Given the description of an element on the screen output the (x, y) to click on. 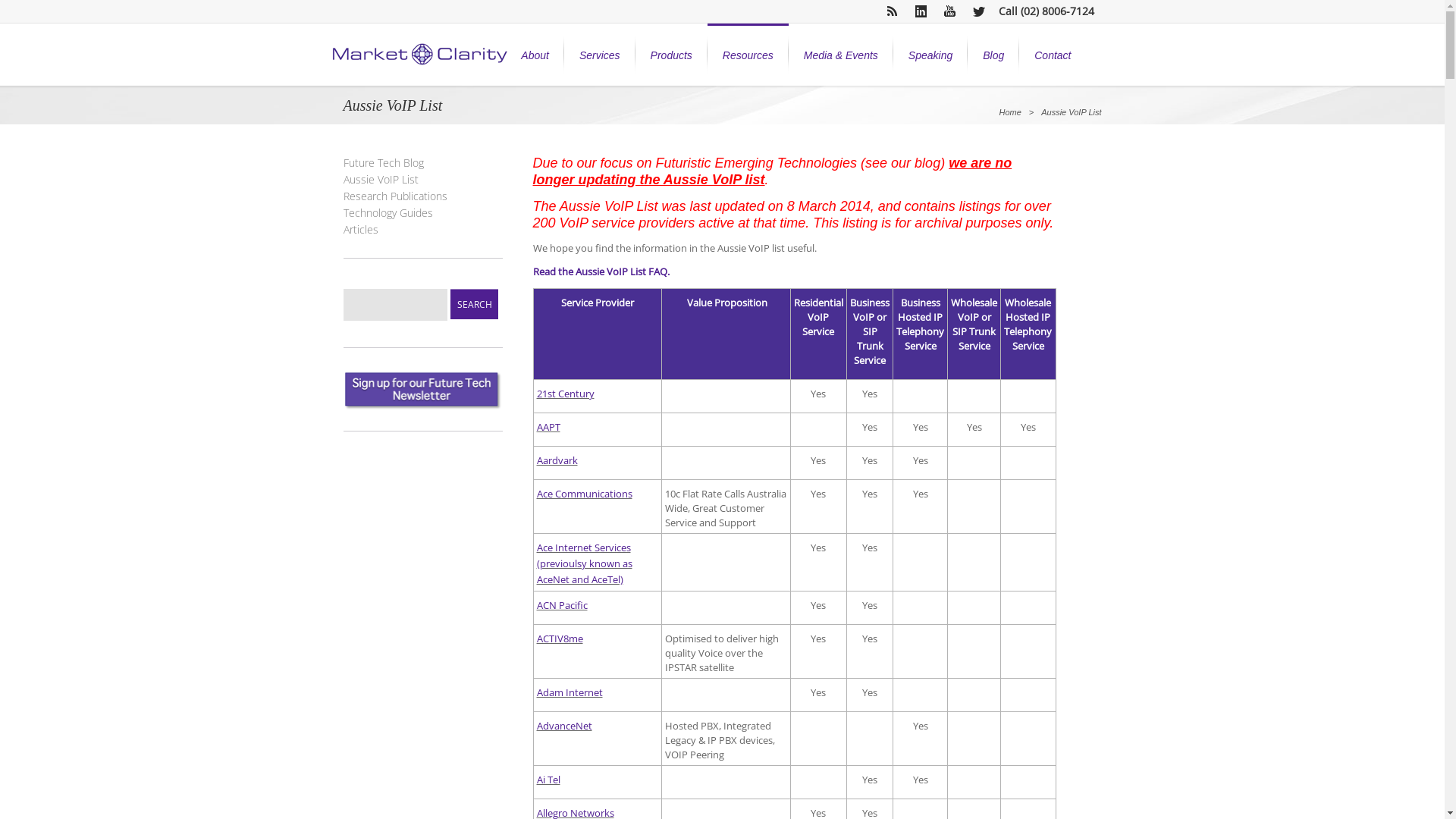
About Element type: text (534, 54)
Home Element type: text (1009, 111)
Products Element type: text (671, 54)
Read the Aussie VoIP List FAQ. Element type: text (600, 271)
linkedin Element type: text (920, 10)
blog Element type: text (927, 162)
Media & Events Element type: text (840, 54)
YouTube Element type: text (949, 10)
Adam Internet Element type: text (569, 692)
Ace Communications Element type: text (584, 493)
twitter Element type: text (977, 10)
AAPT Element type: text (548, 426)
Aardvark Element type: text (556, 460)
Aussie VoIP List Element type: text (379, 179)
AdvanceNet Element type: text (564, 725)
21st Century Element type: text (565, 393)
Articles Element type: text (359, 229)
Future Tech Blog Element type: text (382, 162)
ACN Pacific Element type: text (561, 604)
Search Element type: text (474, 303)
Research Publications Element type: text (394, 195)
Resources Element type: text (747, 54)
Ai Tel Element type: text (548, 779)
Speaking Element type: text (930, 54)
RSS Element type: text (891, 10)
Services Element type: text (599, 54)
ACTIV8me Element type: text (559, 638)
Technology Guides Element type: text (387, 212)
Blog Element type: text (993, 54)
Contact Element type: text (1052, 54)
